Given the description of an element on the screen output the (x, y) to click on. 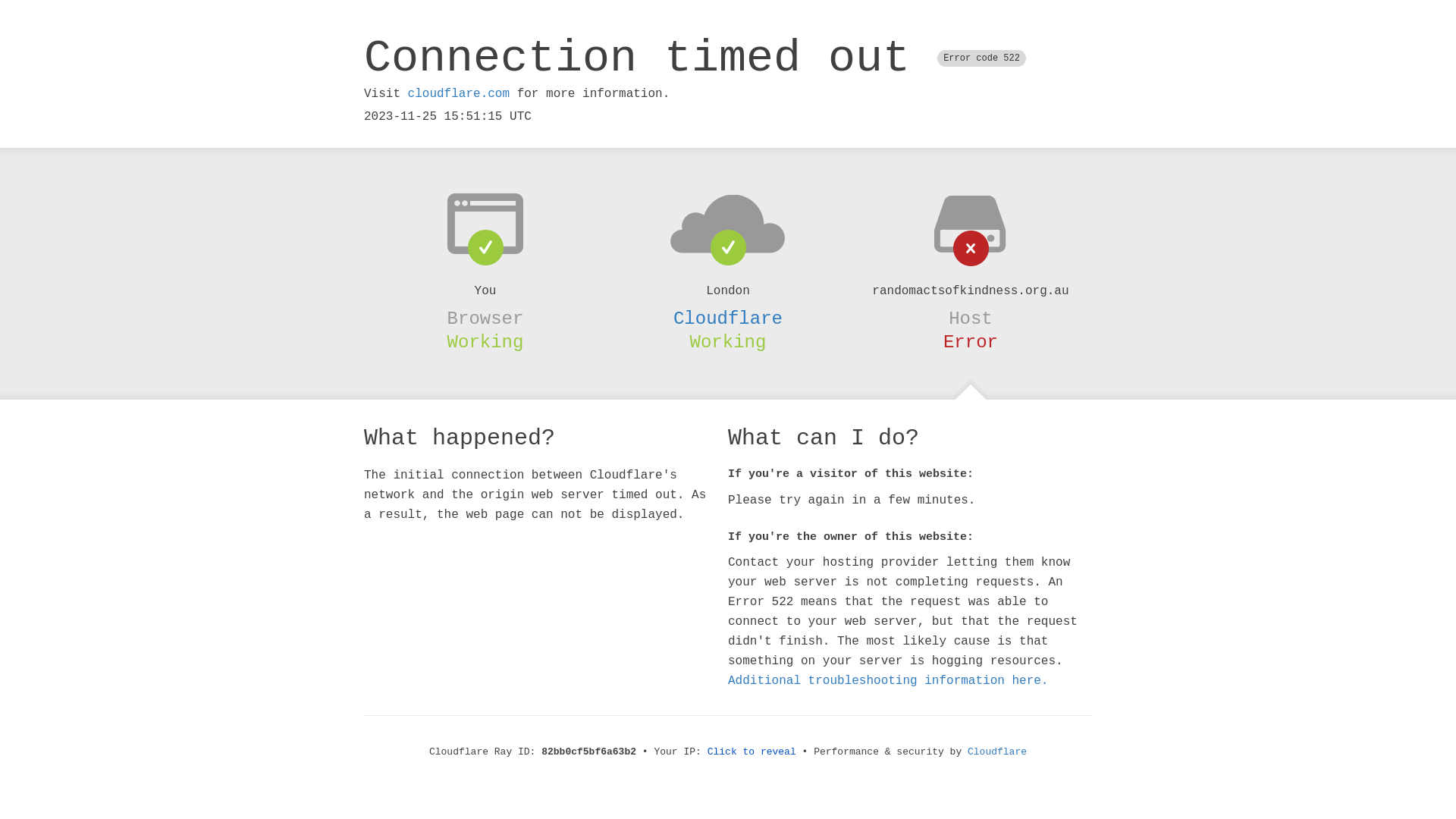
Click to reveal Element type: text (751, 751)
Cloudflare Element type: text (996, 751)
Additional troubleshooting information here. Element type: text (888, 680)
Cloudflare Element type: text (727, 318)
cloudflare.com Element type: text (458, 93)
